Given the description of an element on the screen output the (x, y) to click on. 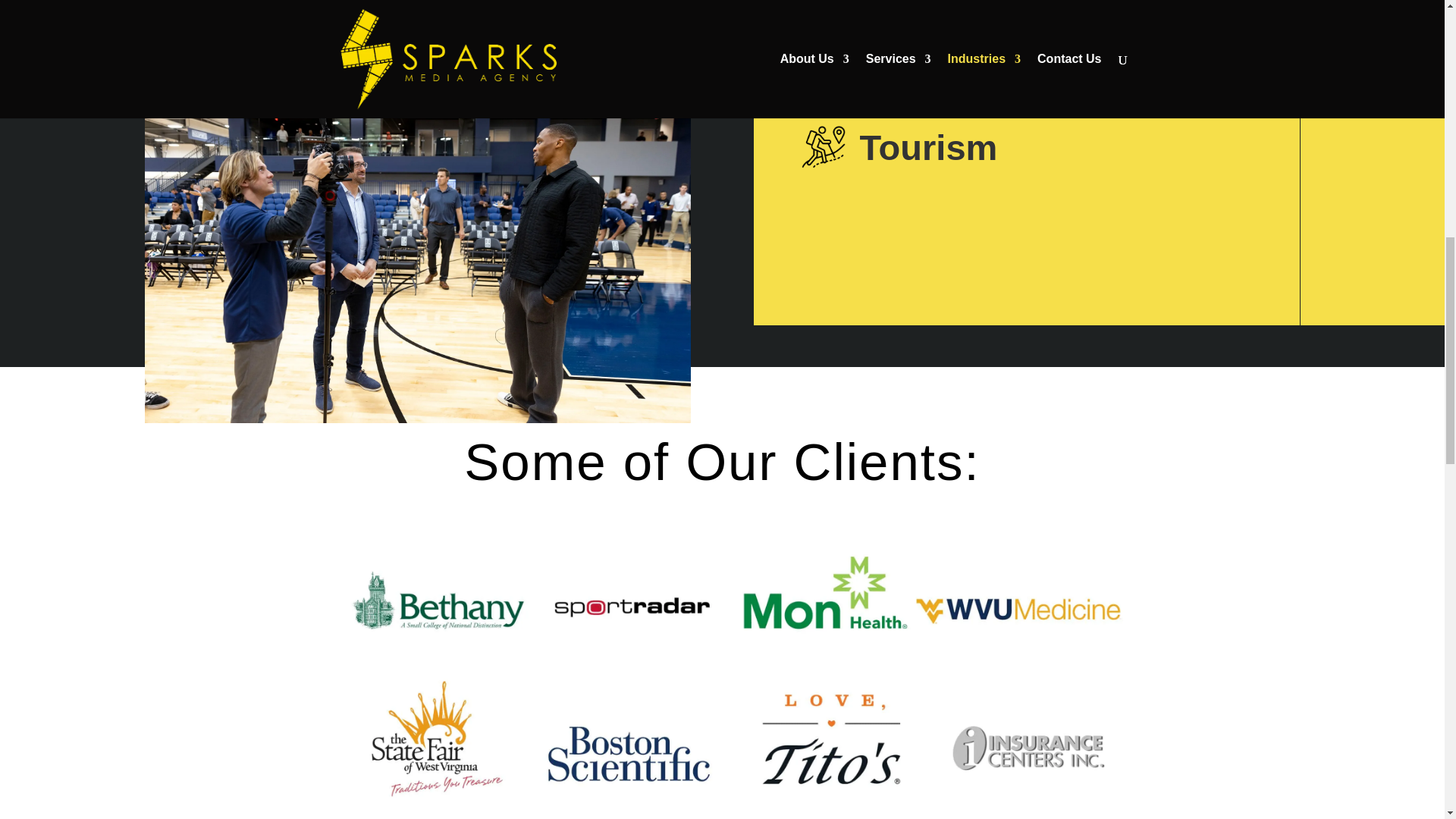
Video Production (417, 13)
